Given the description of an element on the screen output the (x, y) to click on. 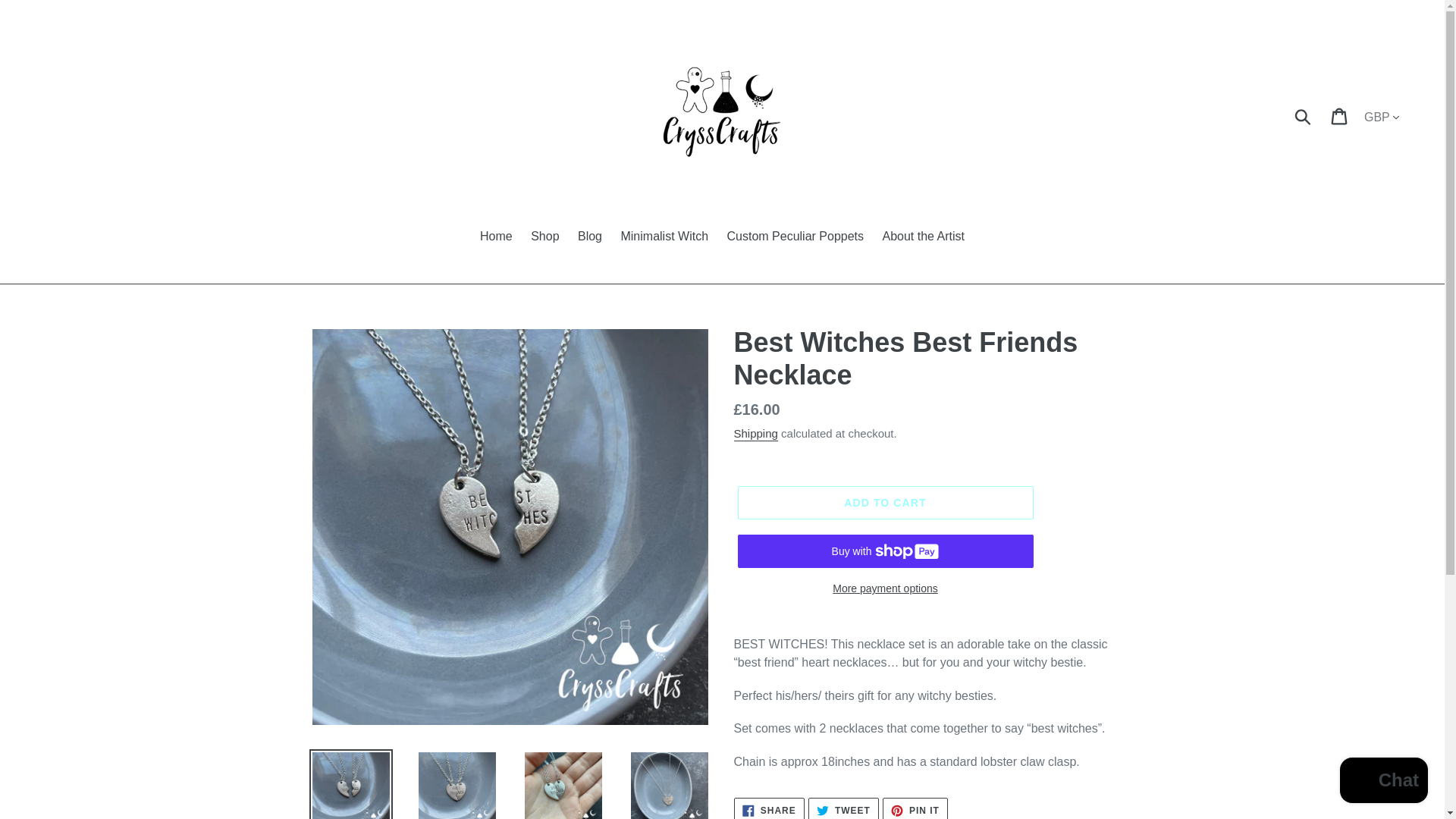
Cart (1340, 114)
About the Artist (923, 237)
Shop (544, 237)
Home (495, 237)
Shipping (755, 433)
More payment options (914, 808)
Minimalist Witch (884, 588)
Blog (664, 237)
Custom Peculiar Poppets (590, 237)
